Given the description of an element on the screen output the (x, y) to click on. 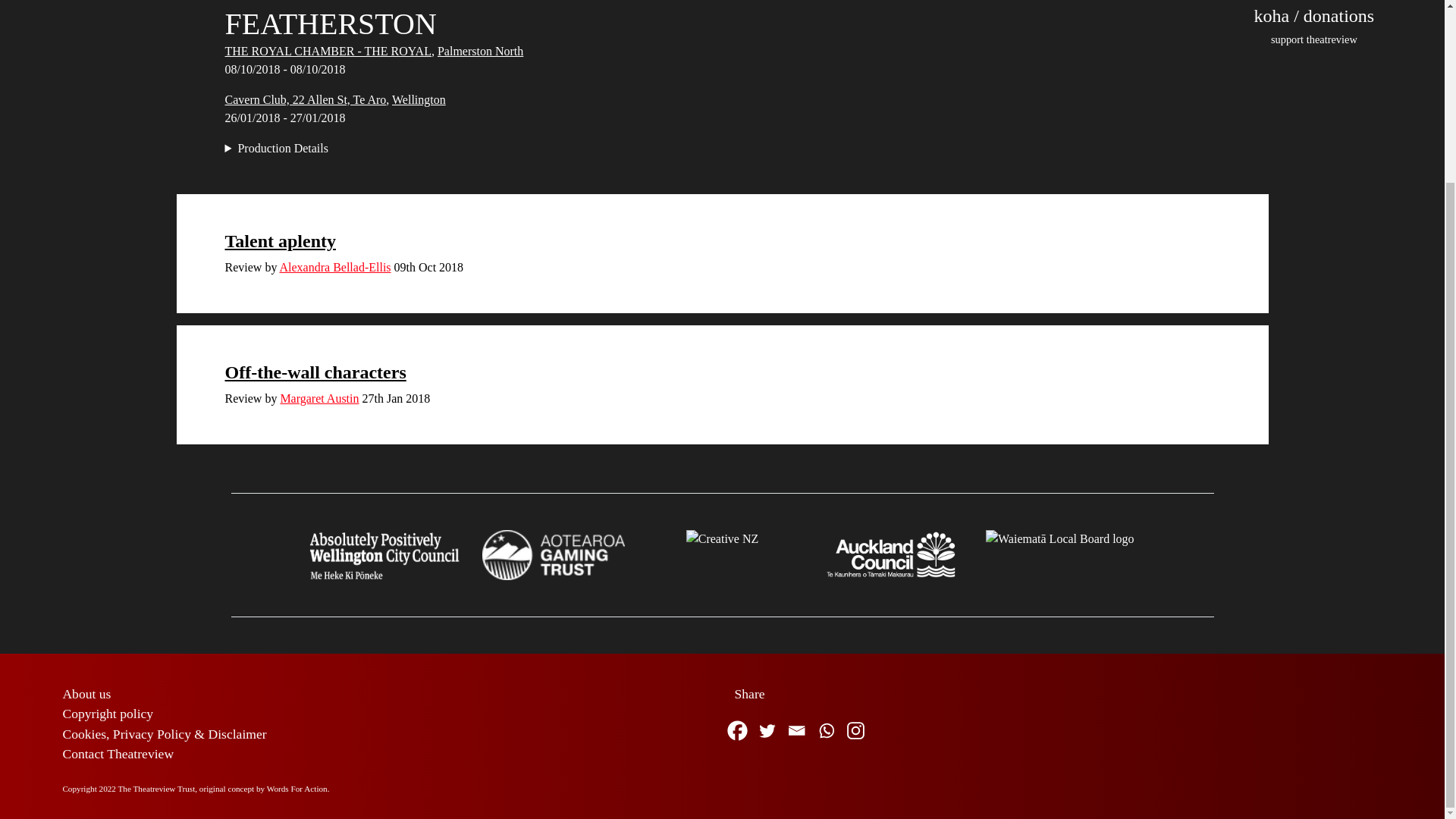
Email (796, 730)
Alexandra Bellad-Ellis (334, 267)
Copyright policy (107, 713)
About us (86, 693)
Facebook (736, 730)
Instagram (854, 730)
Wellington (418, 99)
Margaret Austin (318, 398)
Whatsapp (826, 730)
Contact Theatreview (117, 753)
Twitter (767, 730)
Cavern Club, 22 Allen St, Te Aro (304, 99)
Palmerston North (480, 51)
THE ROYAL CHAMBER - THE ROYAL (327, 51)
